Given the description of an element on the screen output the (x, y) to click on. 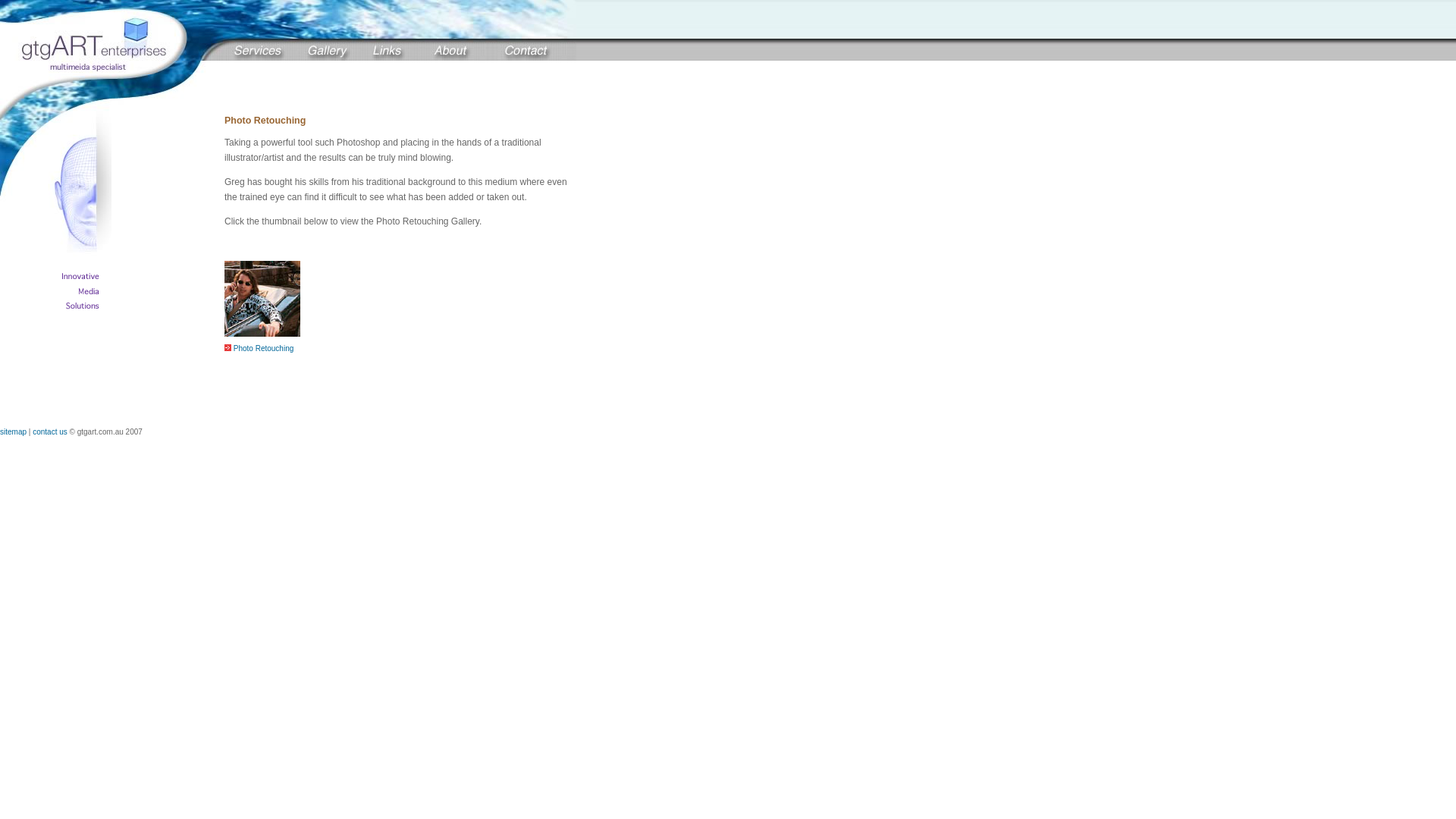
contact us Element type: text (49, 431)
sitemap Element type: text (13, 431)
Photo Retouching Element type: text (258, 348)
